Given the description of an element on the screen output the (x, y) to click on. 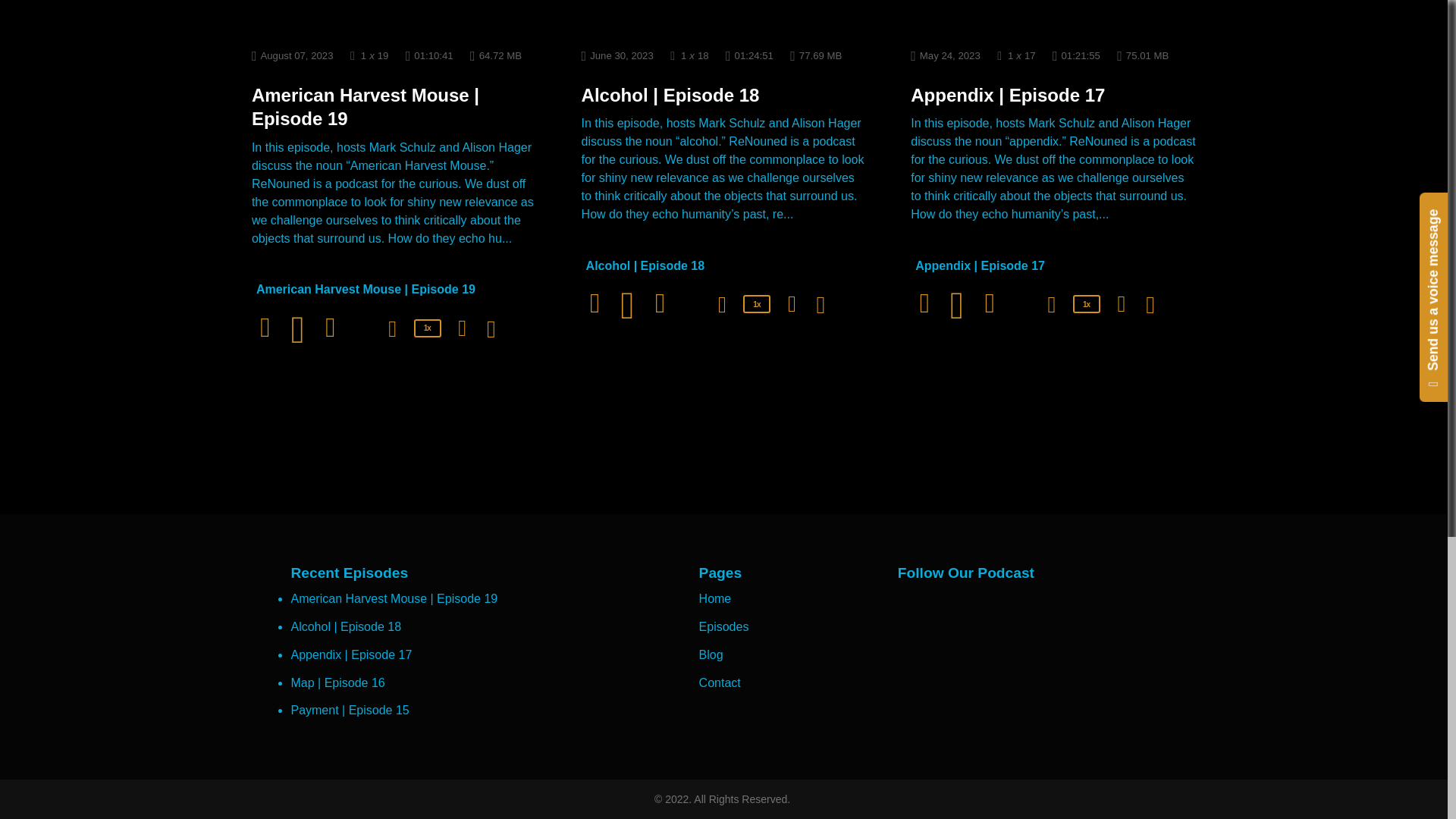
Episode Duration (429, 54)
Date (292, 54)
1 (363, 55)
